Given the description of an element on the screen output the (x, y) to click on. 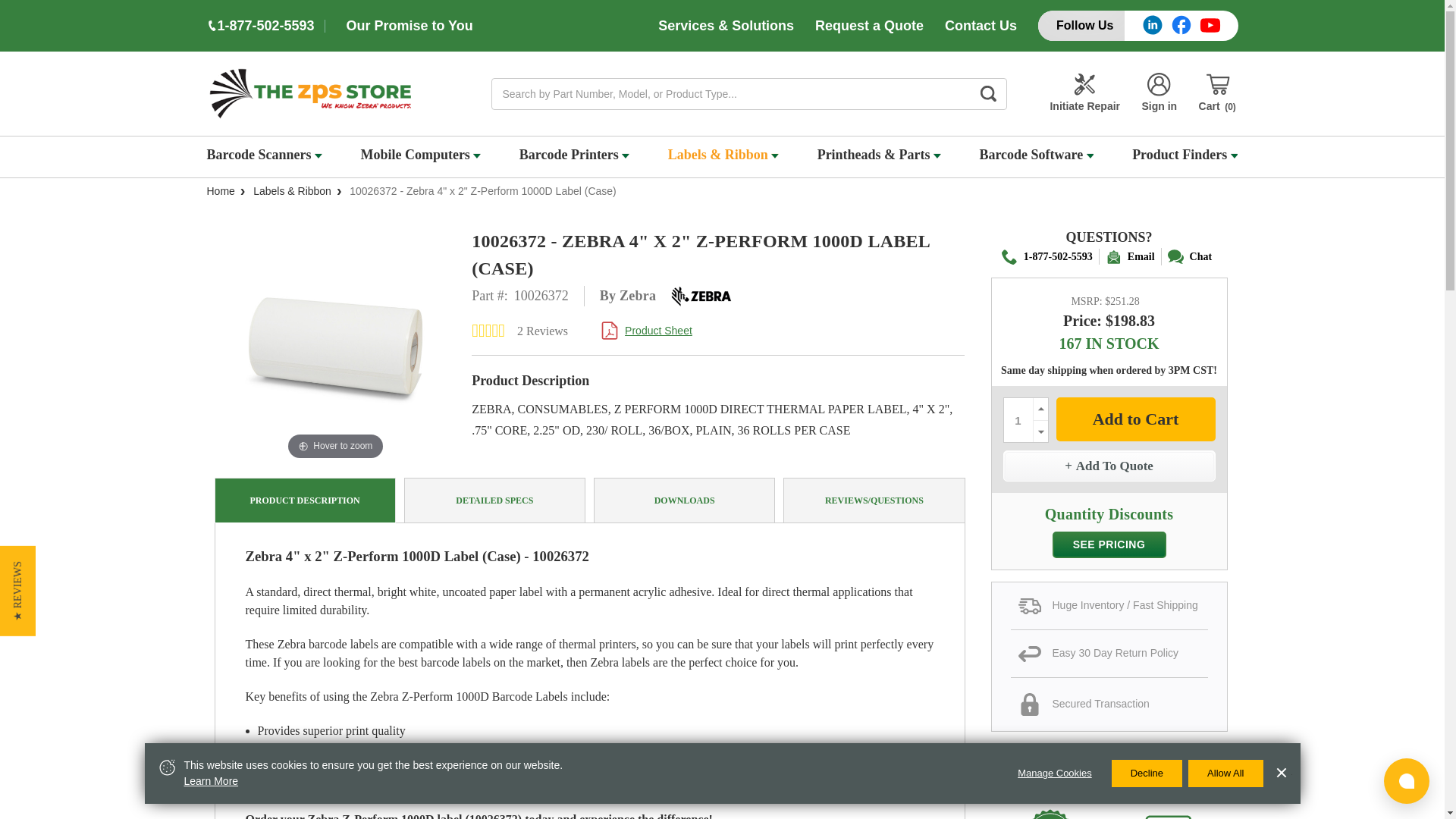
Contact Us (980, 25)
Barcode Scanners (263, 156)
The ZPS Store (309, 93)
Add to Cart (1134, 419)
1-877-502-5593 (265, 25)
Initiate Repair (1084, 93)
1 (1018, 420)
Our Promise to You (408, 25)
Request a Quote (869, 25)
